Given the description of an element on the screen output the (x, y) to click on. 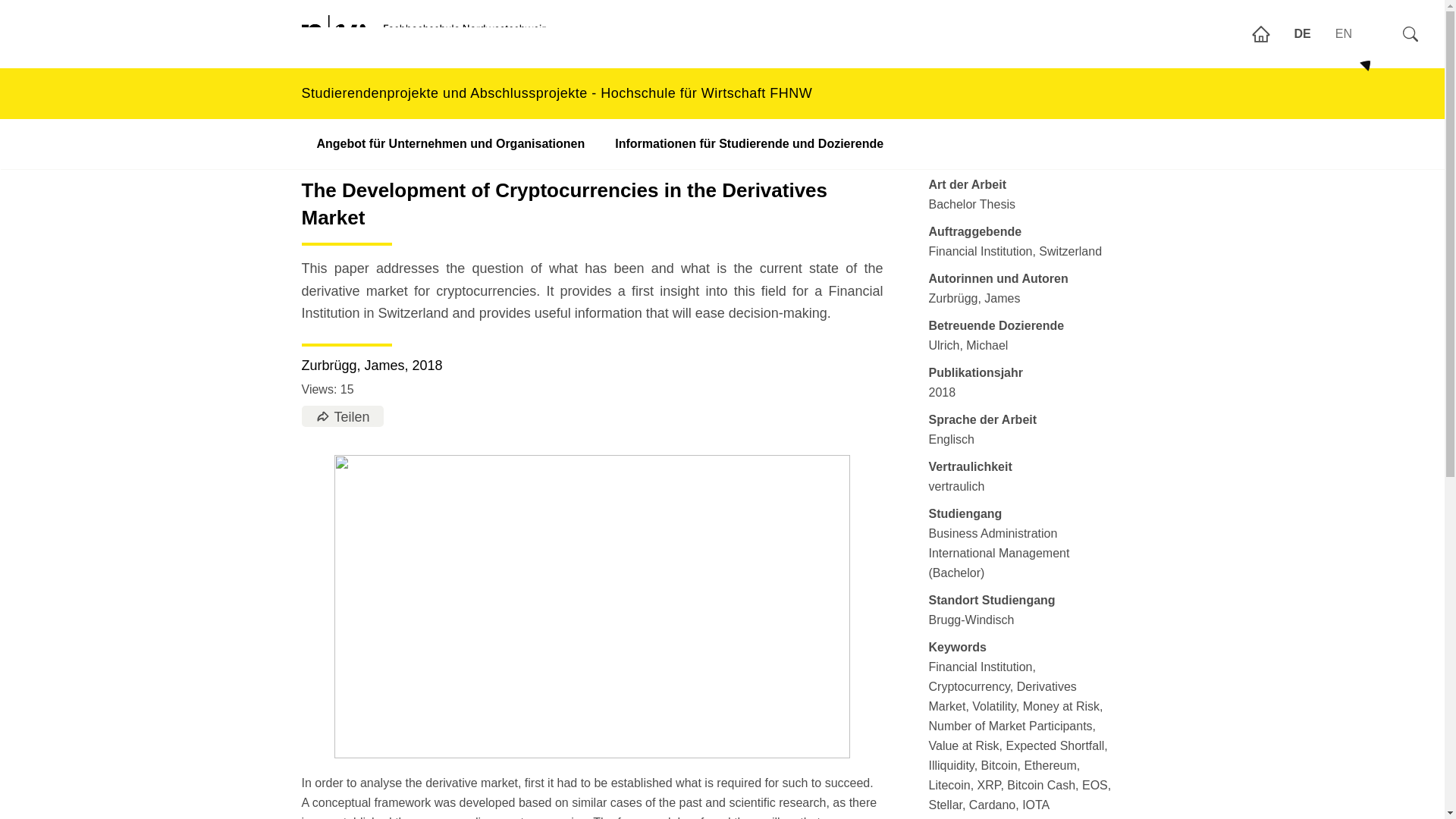
Teilen (341, 416)
